Given the description of an element on the screen output the (x, y) to click on. 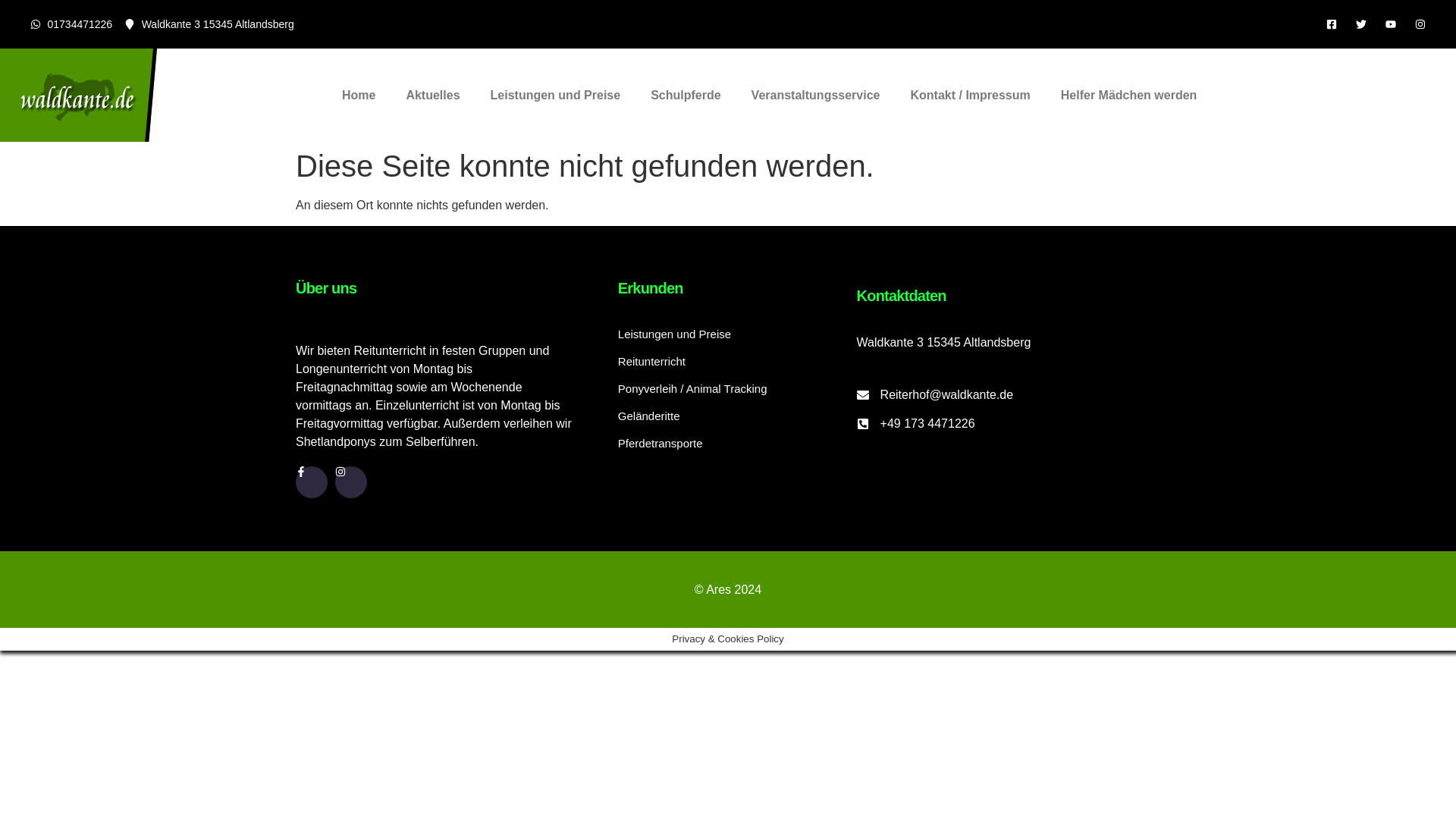
Schulpferde (684, 95)
Aktuelles (432, 95)
Leistungen und Preise (556, 95)
Home (358, 95)
Veranstaltungsservice (815, 95)
